Given the description of an element on the screen output the (x, y) to click on. 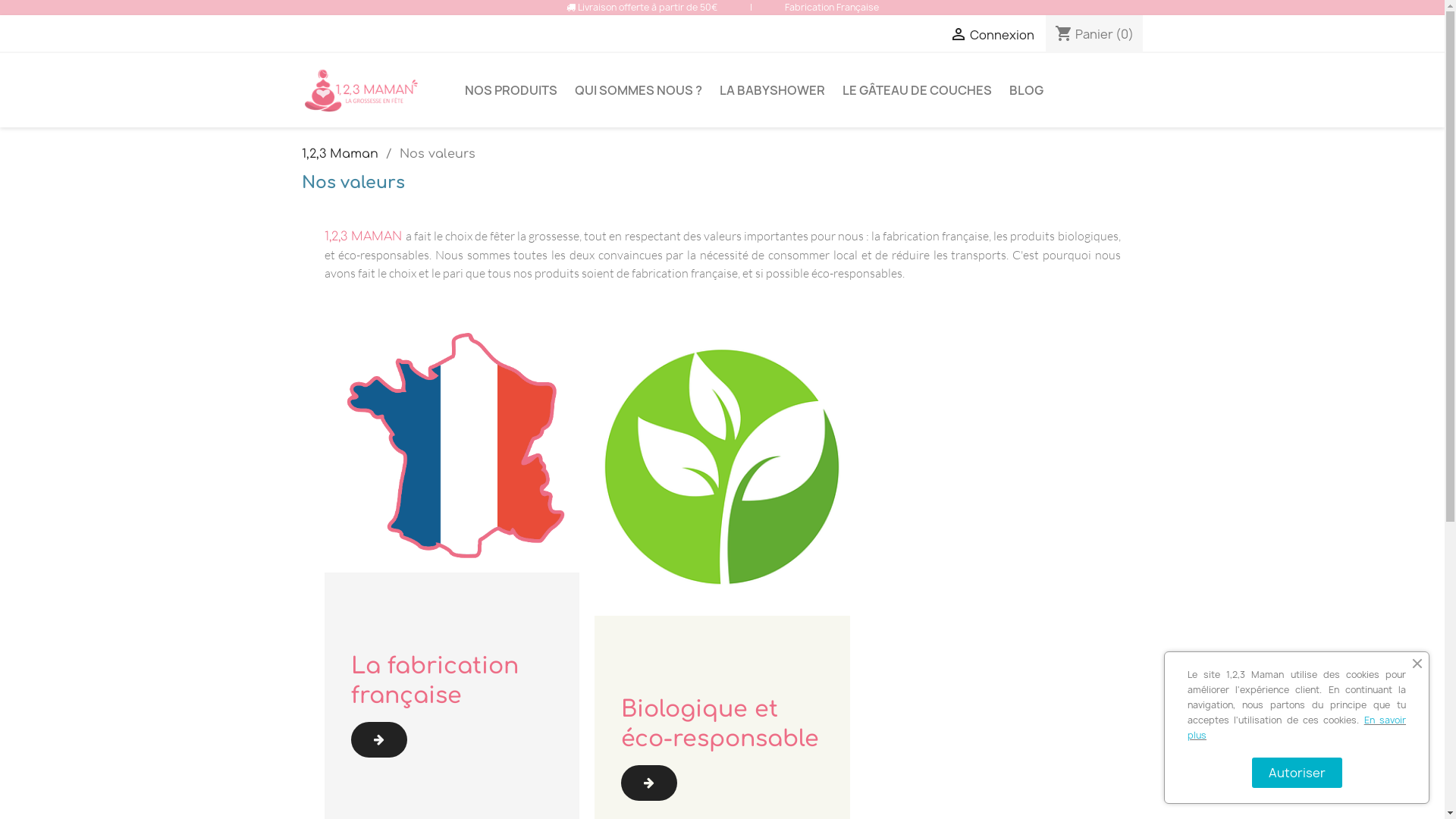
LA BABYSHOWER Element type: text (771, 90)
BLOG Element type: text (1025, 90)
NOS PRODUITS Element type: text (510, 90)
QUI SOMMES NOUS ? Element type: text (638, 90)
1,2,3 Maman Element type: text (339, 153)
Autoriser Element type: text (1296, 772)
En savoir plus Element type: text (1296, 727)
